Given the description of an element on the screen output the (x, y) to click on. 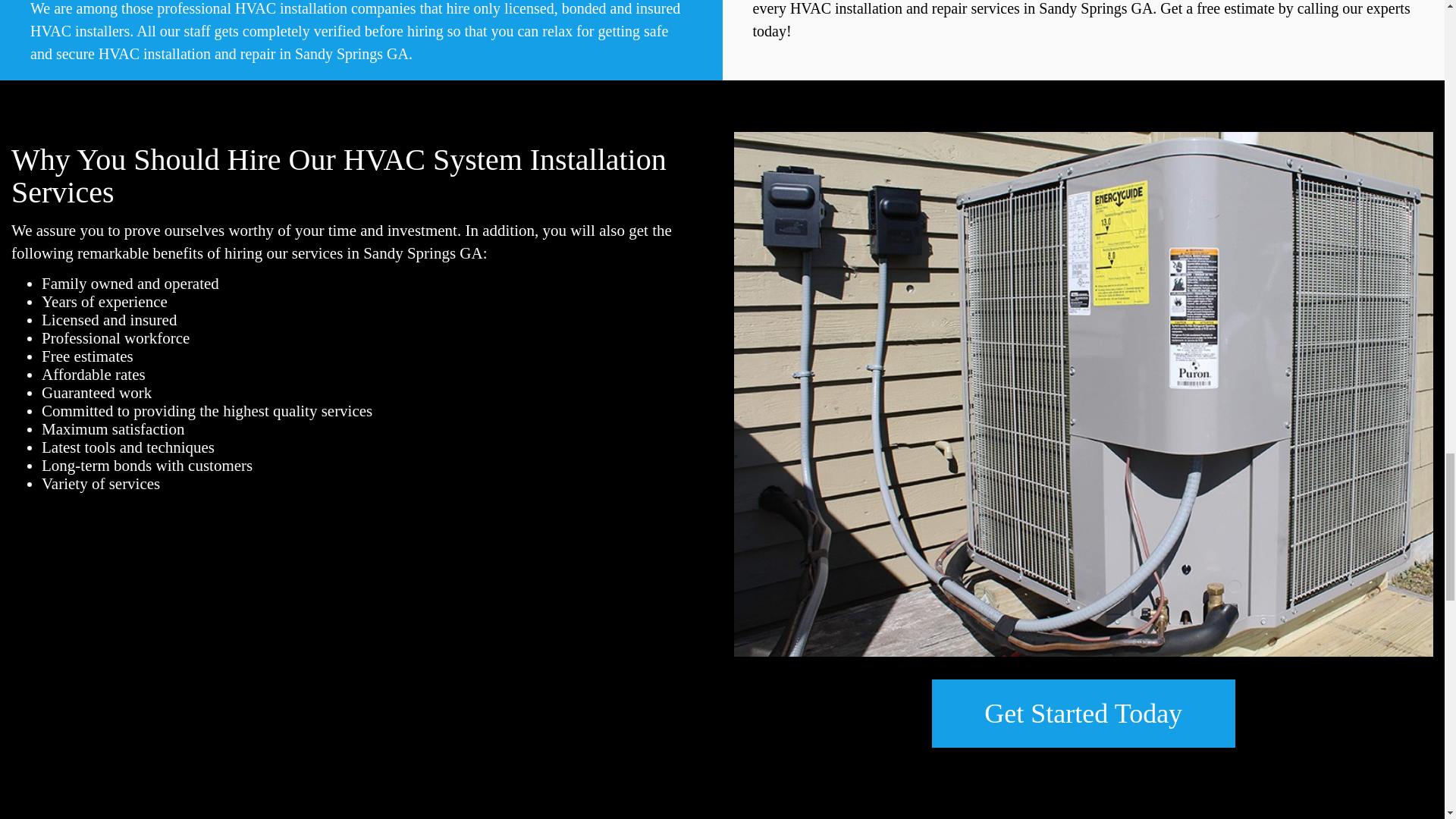
Get Started Today (1082, 713)
